Given the description of an element on the screen output the (x, y) to click on. 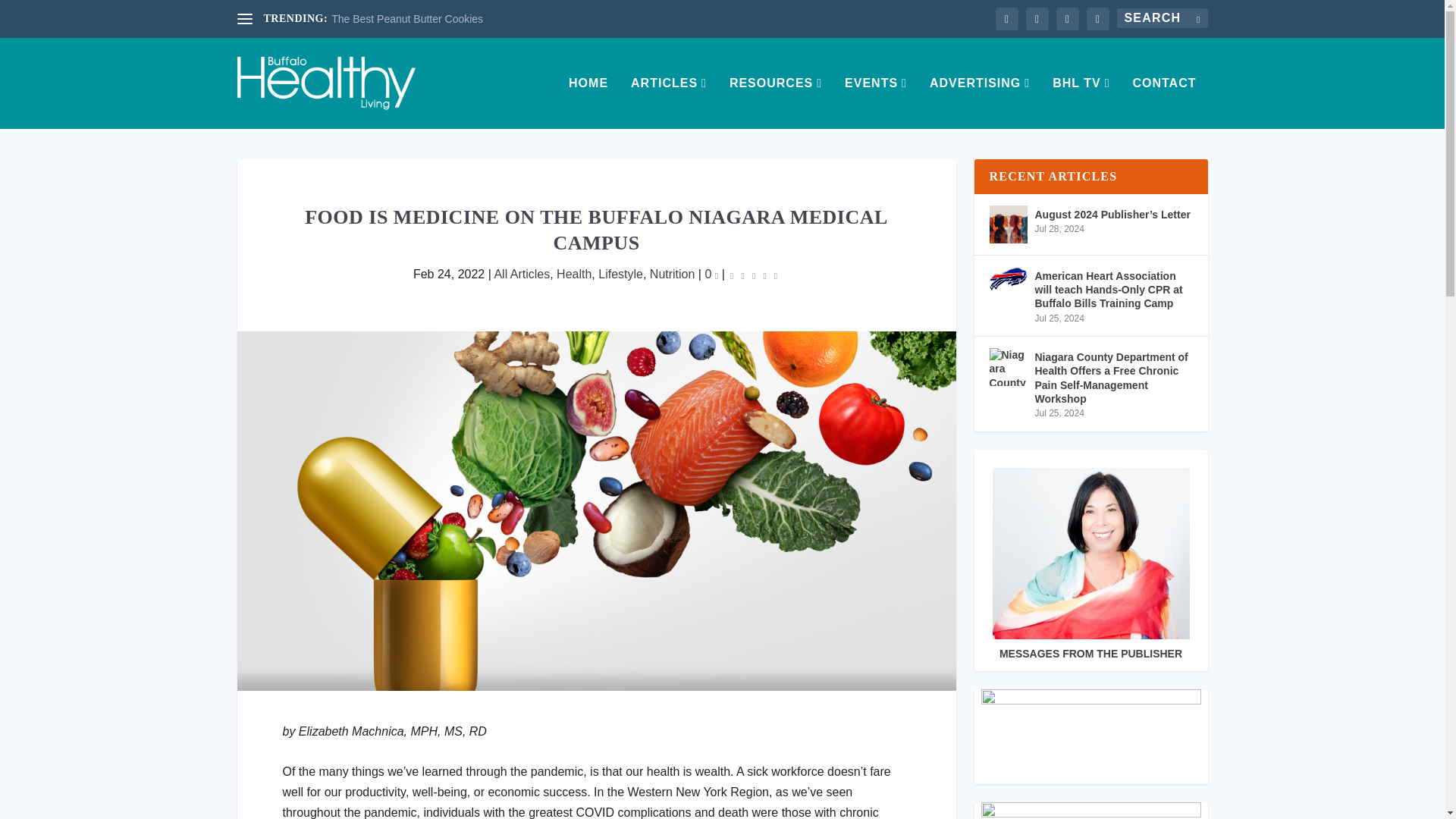
Rating: 5.00 (753, 274)
The Best Peanut Butter Cookies (407, 19)
comment count (715, 275)
ADVERTISING (979, 102)
Search for: (1161, 17)
RESOURCES (775, 102)
ARTICLES (668, 102)
EVENTS (875, 102)
HOME (588, 102)
